Given the description of an element on the screen output the (x, y) to click on. 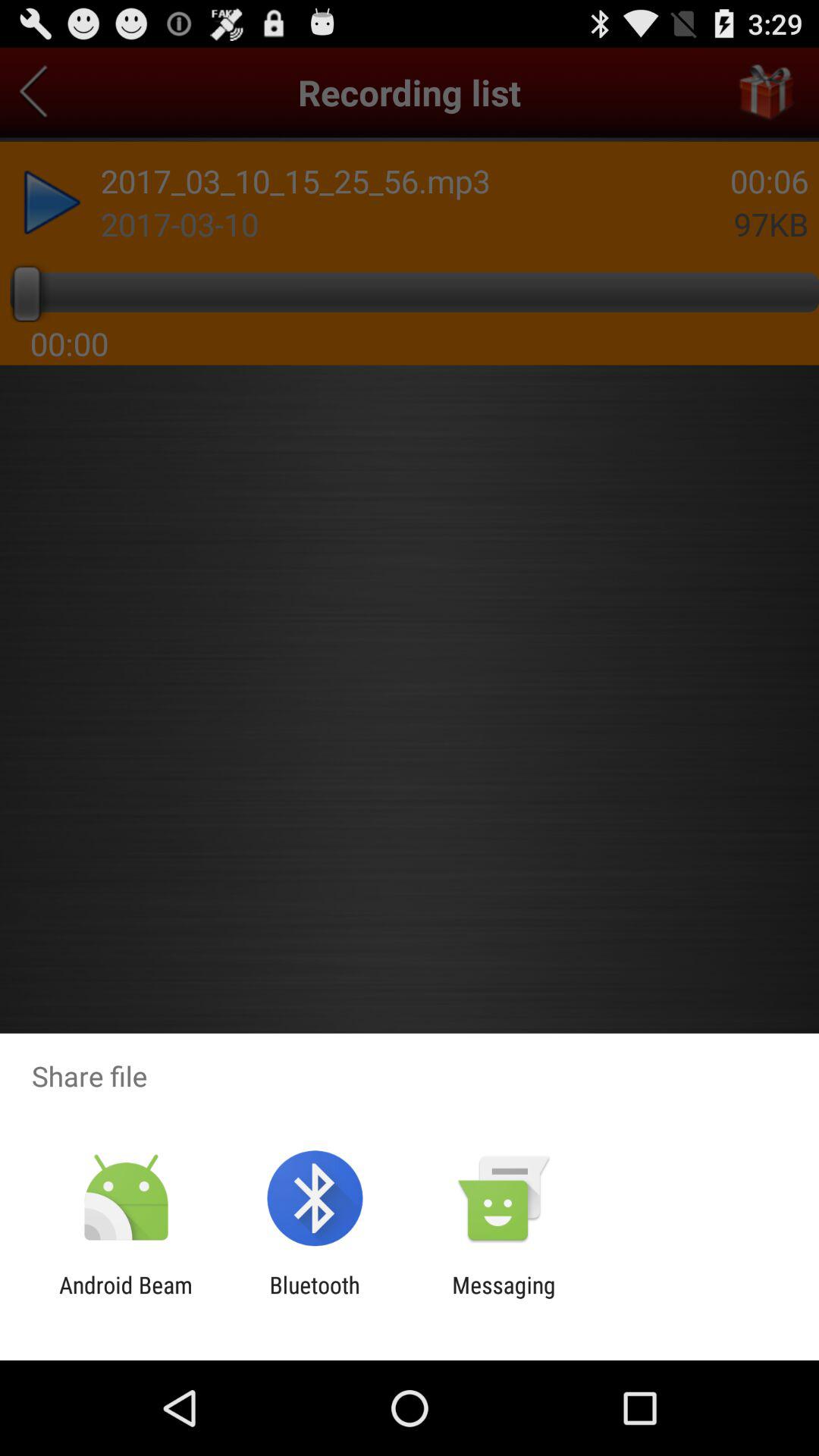
flip until the android beam item (125, 1298)
